Given the description of an element on the screen output the (x, y) to click on. 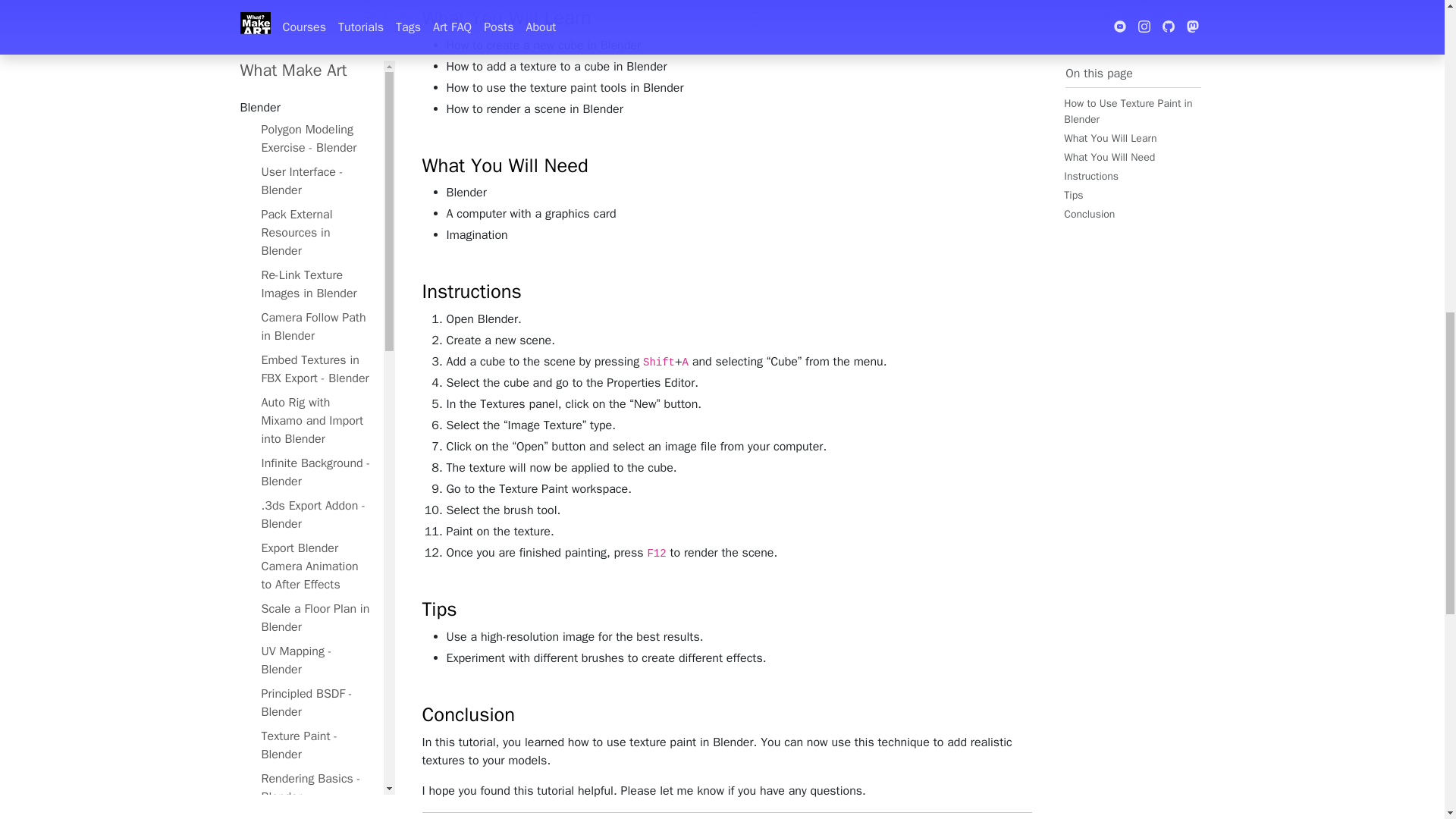
Fluid Simulation Basics - Blender (315, 174)
3D Animation - Blender (315, 107)
Cloth Quick Start Tutorial - Blender (315, 259)
Rigid Body Physics Quick Start Tutorial - Blender (315, 311)
3D Modeling Basics - Blender (315, 65)
Rendering Basics - Blender (315, 0)
Blender (280, 141)
Add Materials - Blender (315, 23)
How to Create 3D Text in Blender (315, 217)
